Given the description of an element on the screen output the (x, y) to click on. 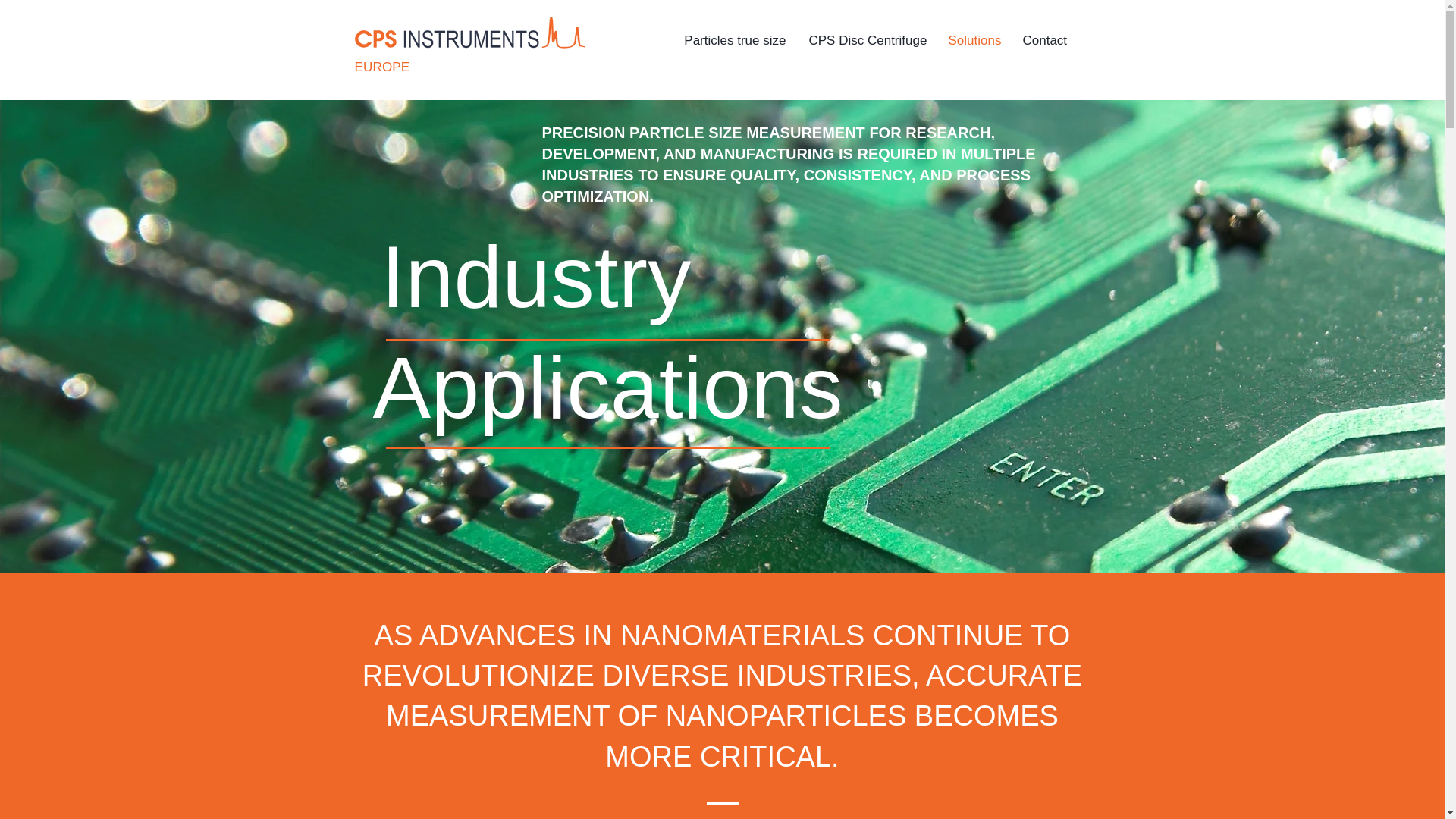
CPS Disc Centrifuge (867, 40)
Particles true size (733, 40)
Contact (1044, 40)
CPS LOGO .png (470, 35)
EUROPE (382, 66)
Solutions (974, 40)
